Given the description of an element on the screen output the (x, y) to click on. 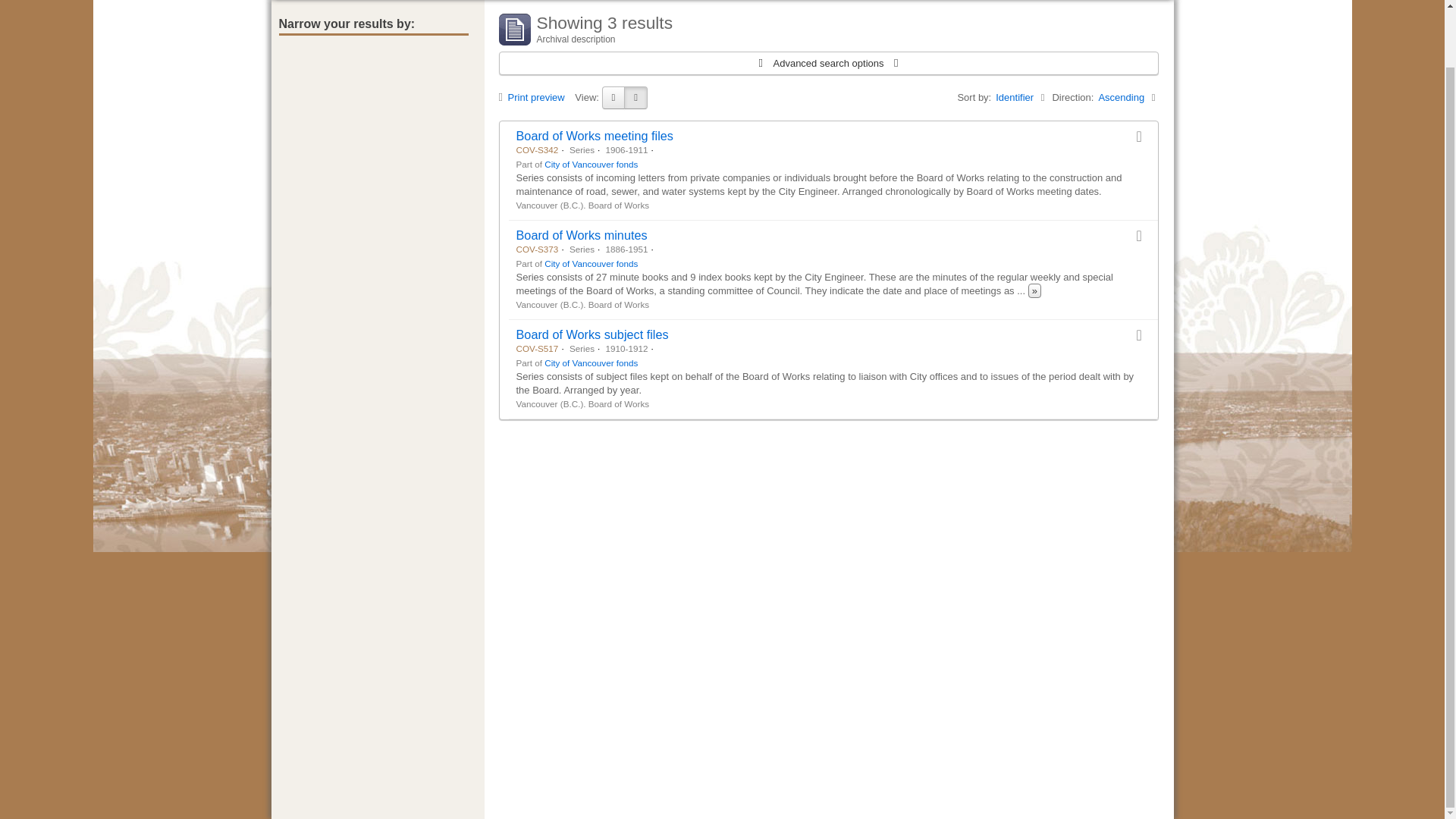
Advanced search options (828, 63)
Board of Works meeting files (593, 135)
Print preview (535, 97)
